Given the description of an element on the screen output the (x, y) to click on. 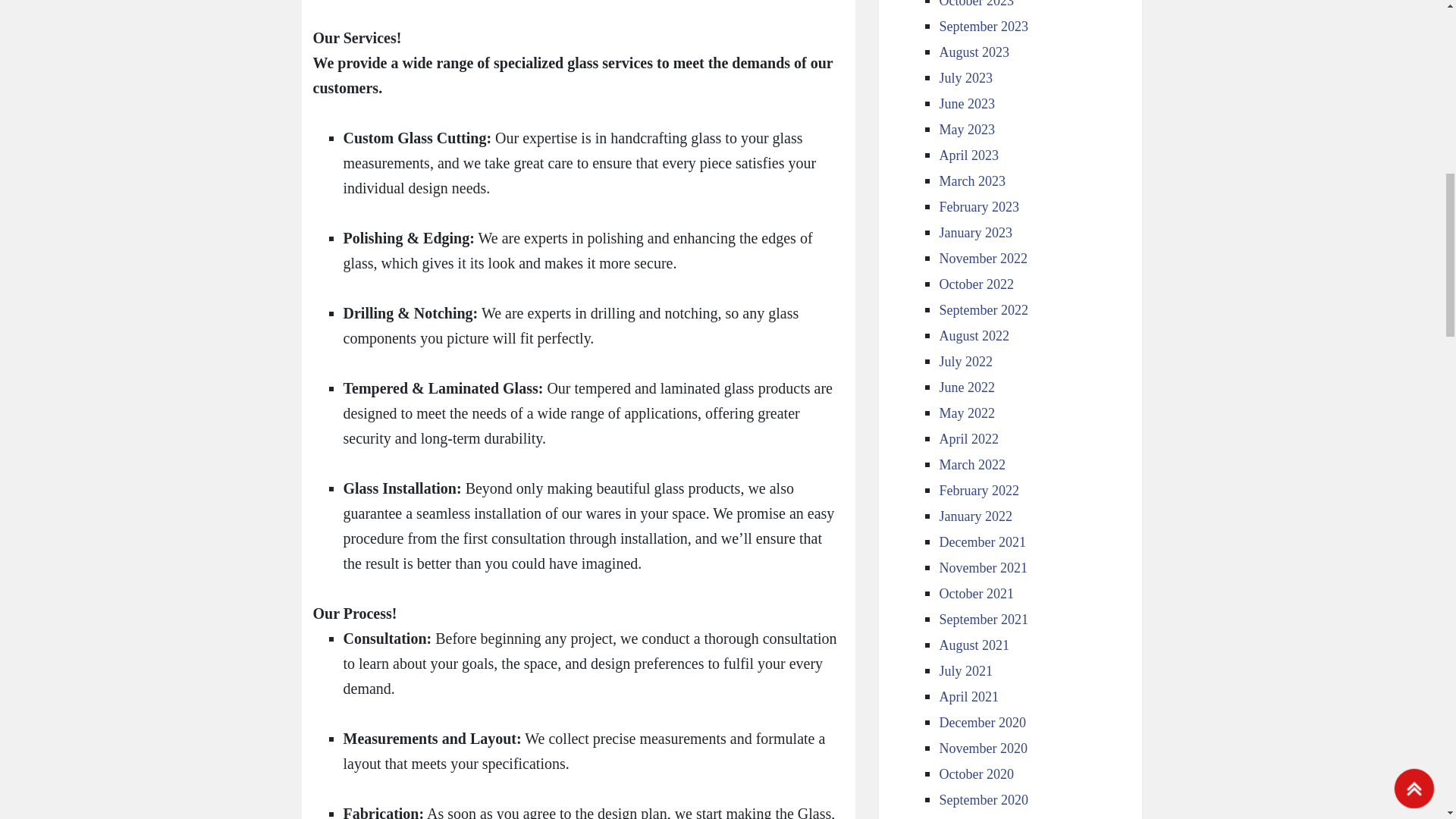
February 2023 (978, 206)
May 2023 (966, 129)
July 2023 (965, 77)
April 2023 (968, 155)
March 2023 (971, 181)
October 2023 (976, 4)
September 2023 (983, 26)
June 2023 (966, 103)
August 2023 (974, 52)
